Given the description of an element on the screen output the (x, y) to click on. 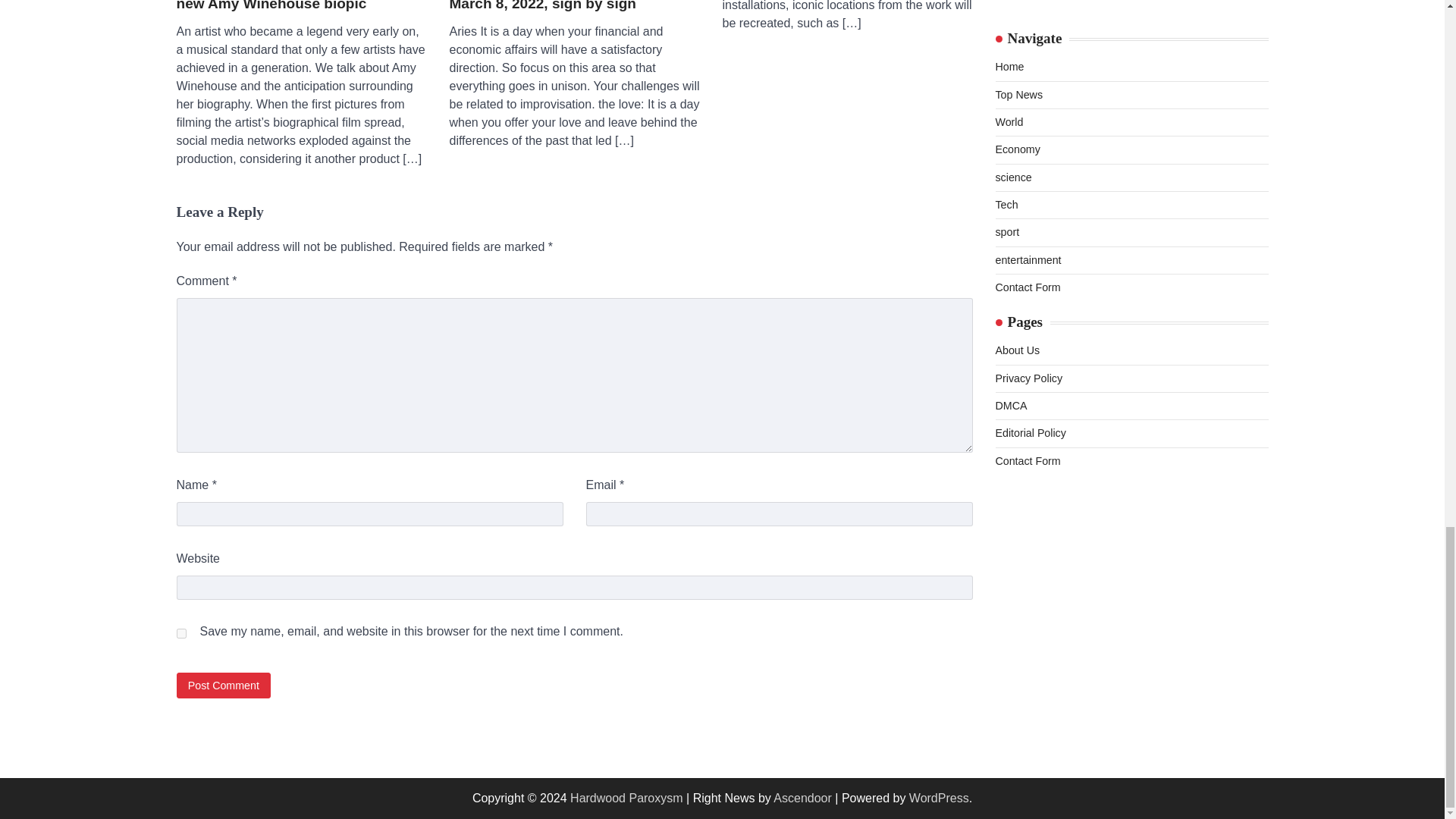
Post Comment (223, 684)
yes (181, 633)
Here's the surprise trailer for the new Amy Winehouse biopic (301, 7)
Post Comment (223, 684)
